Given the description of an element on the screen output the (x, y) to click on. 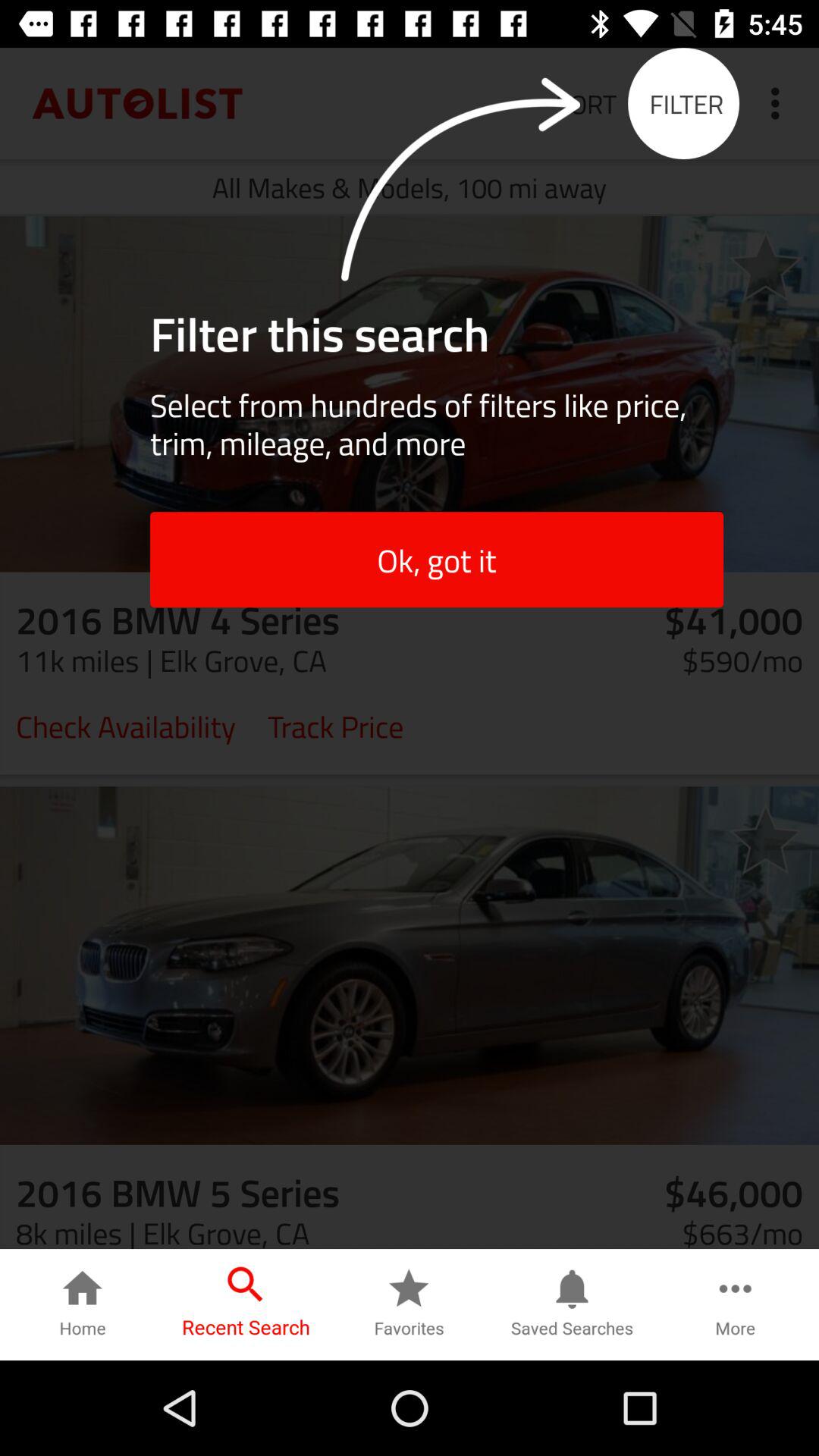
choose the sort icon (585, 103)
